Given the description of an element on the screen output the (x, y) to click on. 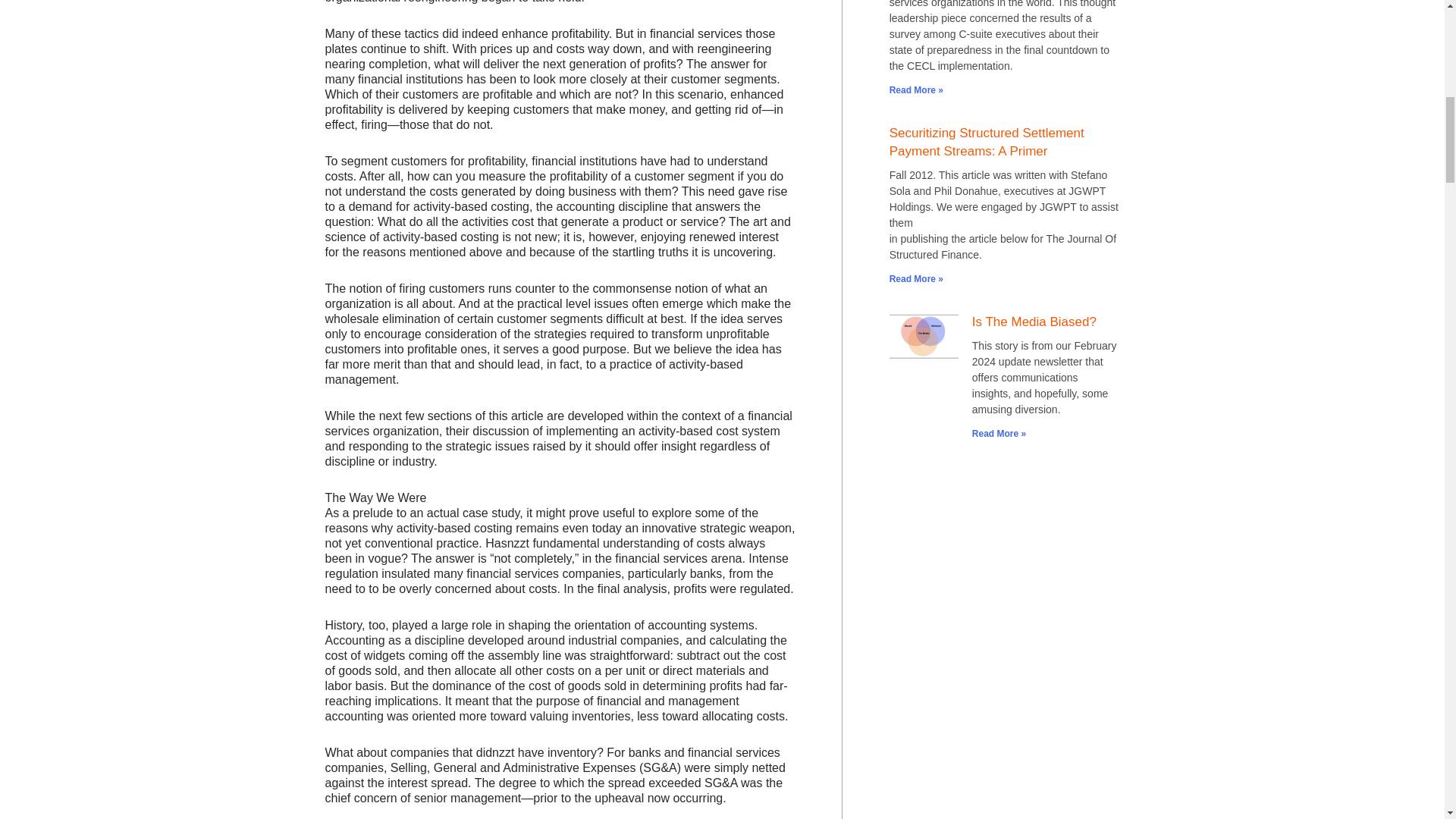
Securitizing Structured Settlement Payment Streams: A Primer (986, 142)
Is The Media Biased? (1034, 321)
